Given the description of an element on the screen output the (x, y) to click on. 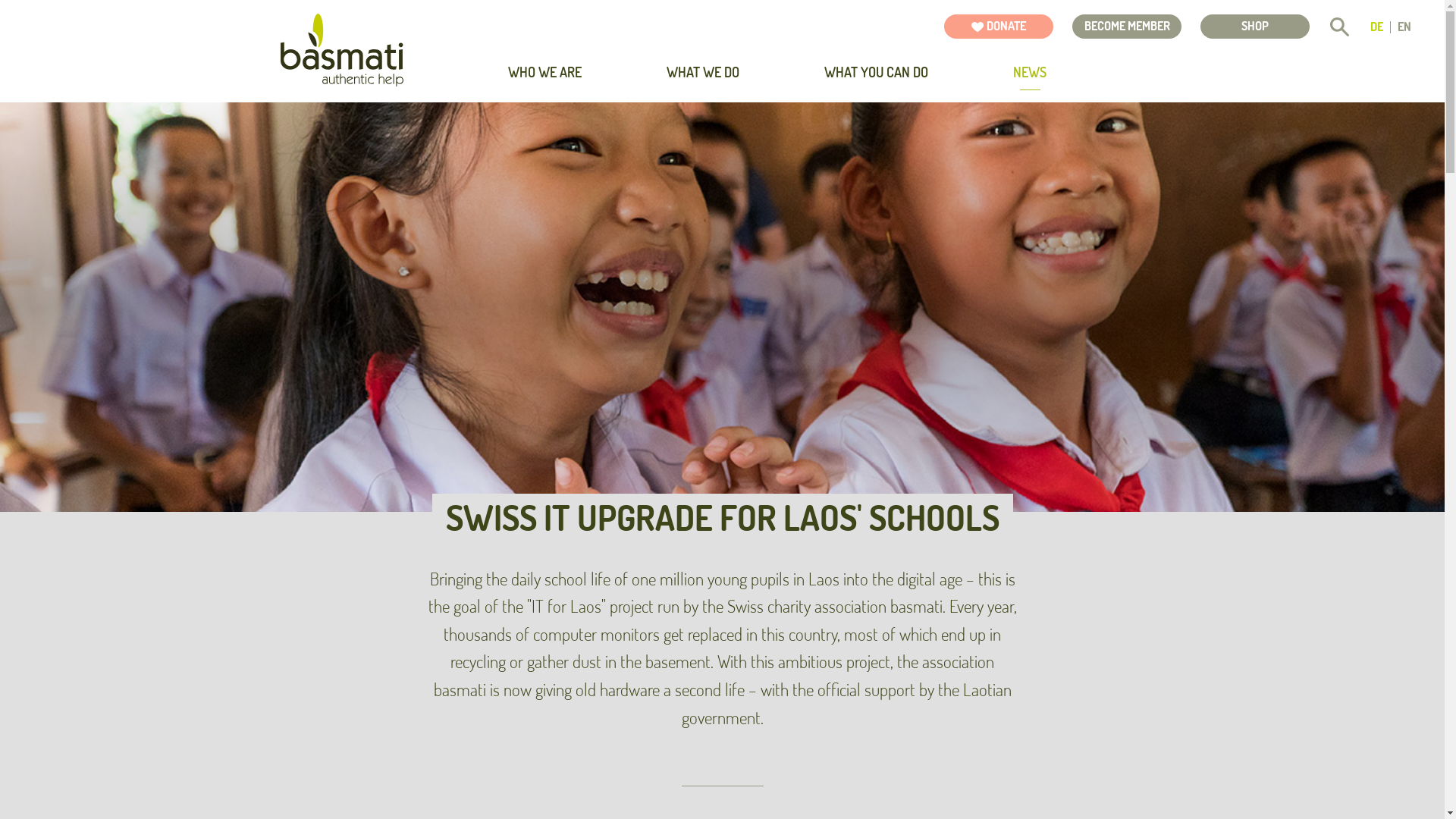
DONATE Element type: text (998, 26)
BECOME MEMBER Element type: text (1126, 26)
WHAT YOU CAN DO Element type: text (876, 72)
DE Element type: text (1376, 27)
WHO WE ARE Element type: text (544, 72)
SHOP Element type: text (1254, 26)
WHAT WE DO Element type: text (702, 72)
NEWS Element type: text (1029, 72)
